Given the description of an element on the screen output the (x, y) to click on. 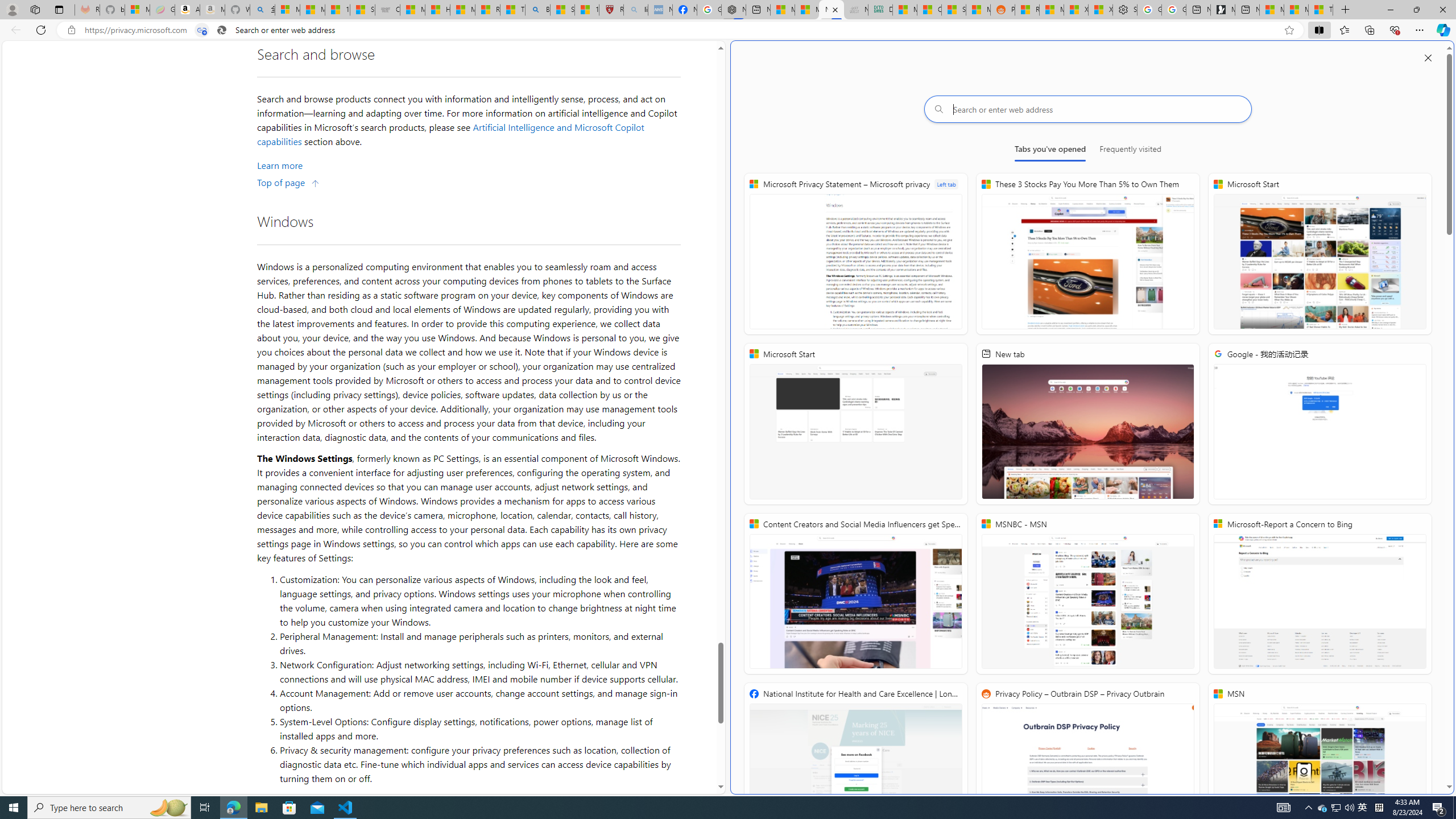
Combat Siege (386, 9)
Top of page (288, 182)
These 3 Stocks Pay You More Than 5% to Own Them (1320, 9)
Tabs you've opened (1049, 151)
MSN (977, 9)
Search or enter web address (1088, 108)
